Given the description of an element on the screen output the (x, y) to click on. 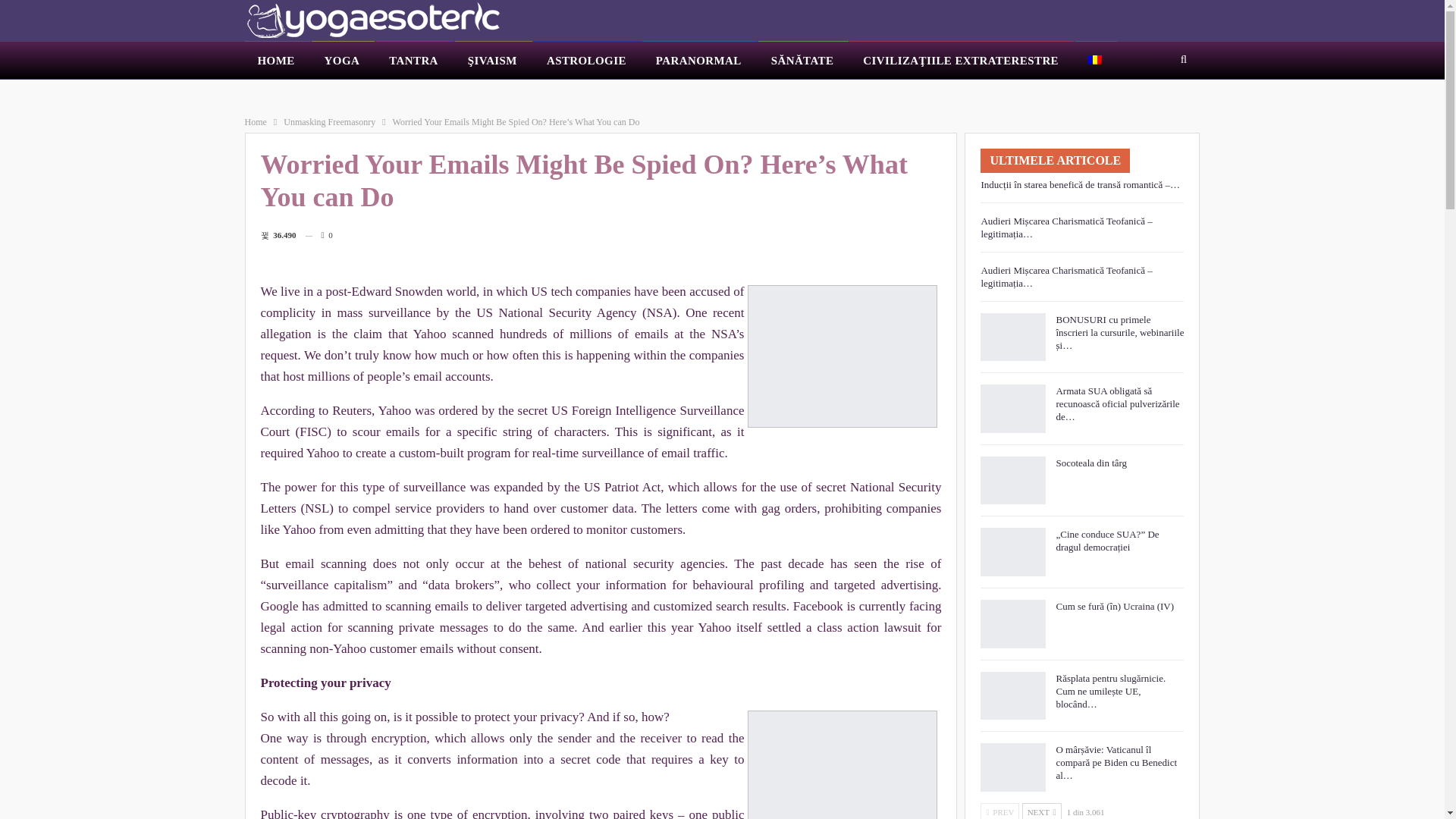
DESPRE NOI (594, 93)
ARTICOLE RECENTE (291, 122)
ASTROLOGIE (588, 60)
LOGIN (945, 93)
MISA (822, 93)
TANTRA (413, 60)
DEMASCAREA MASONERIEI (399, 93)
HOME (276, 60)
EVENIMENTE (679, 93)
CONTACT (882, 93)
